Given the description of an element on the screen output the (x, y) to click on. 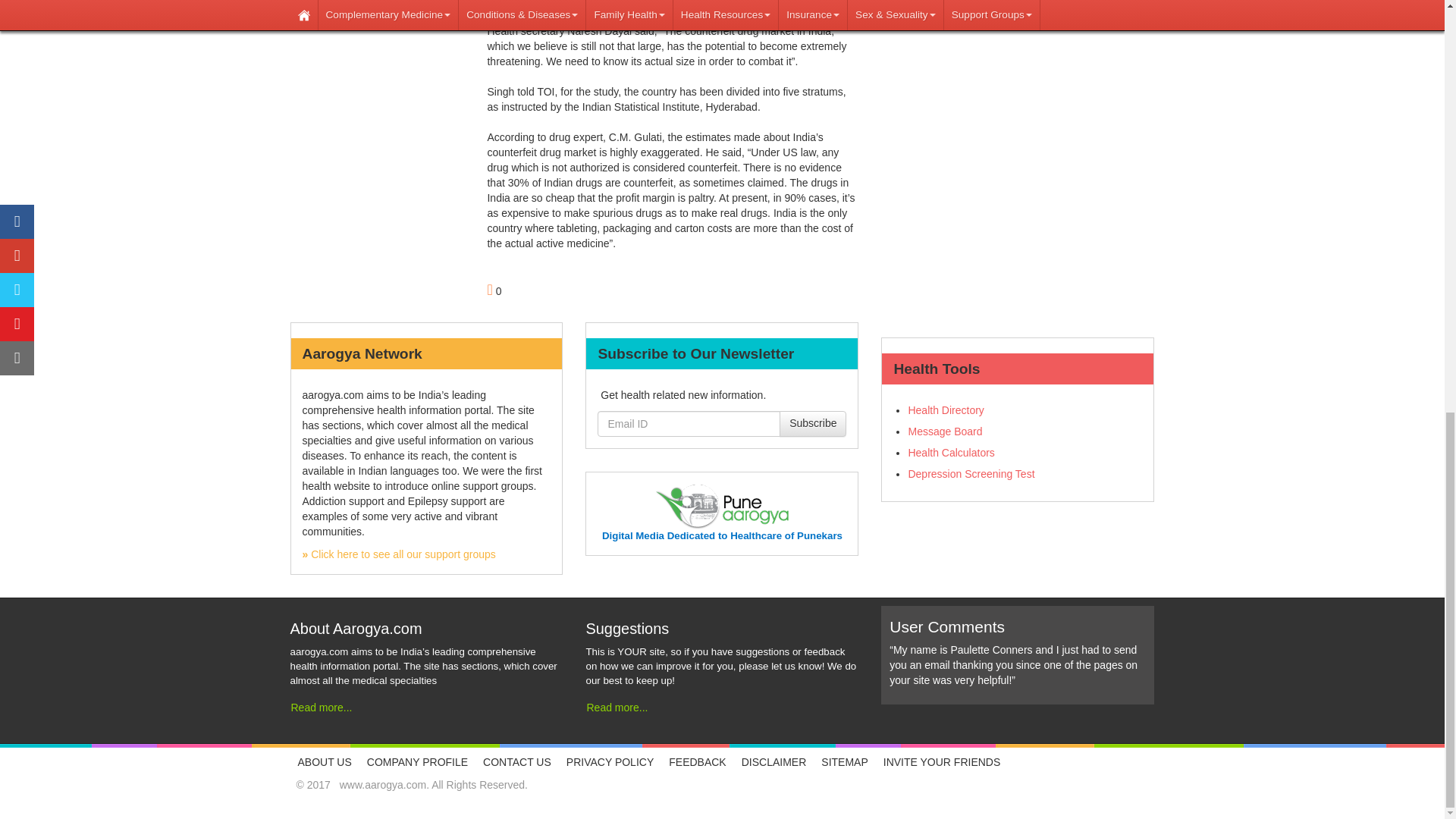
Aarogya Network (398, 553)
Pune Aarogya (722, 535)
Pune Aarogya (722, 505)
Advertisement (1017, 42)
